Given the description of an element on the screen output the (x, y) to click on. 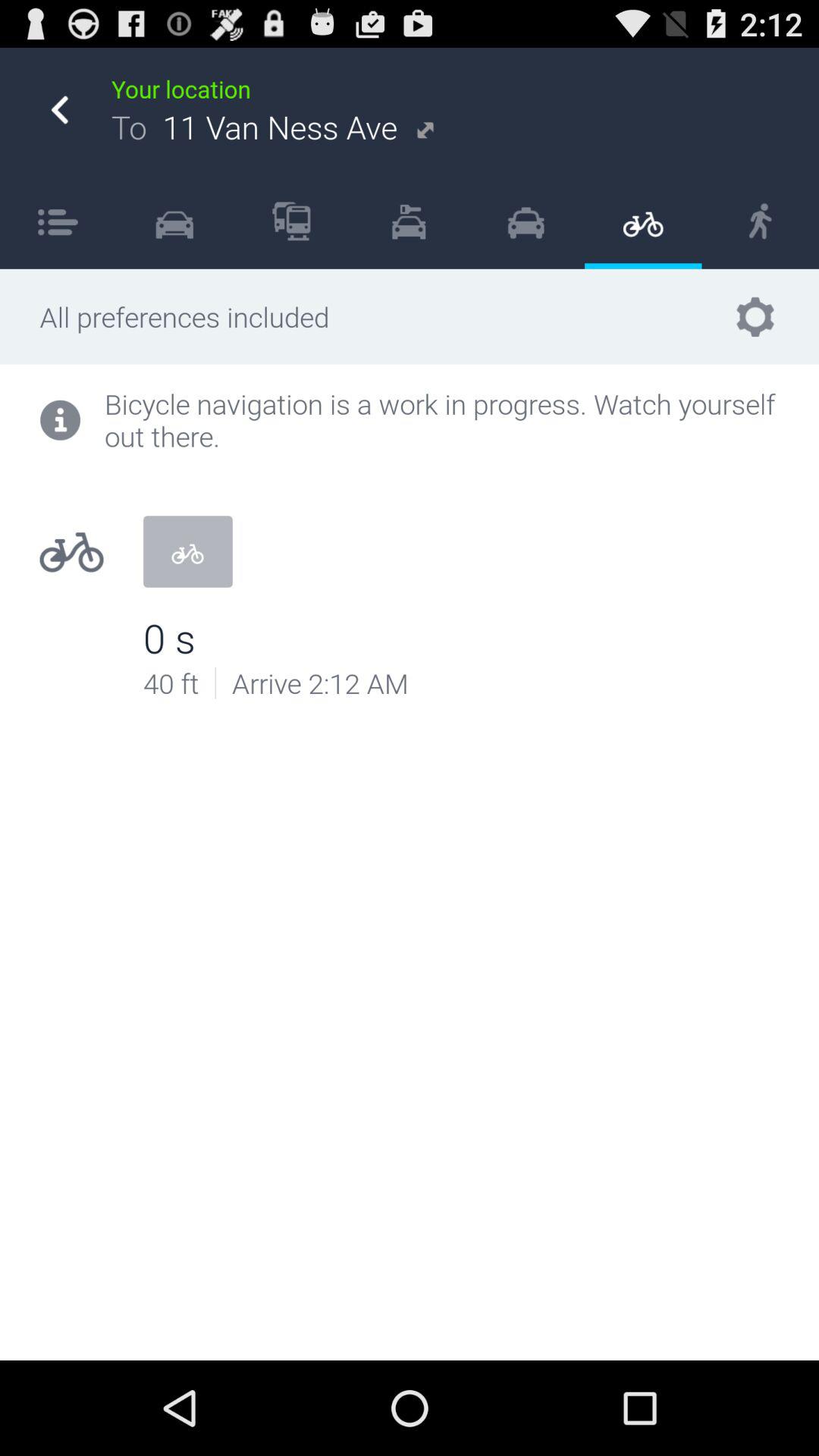
press icon (58, 221)
